Given the description of an element on the screen output the (x, y) to click on. 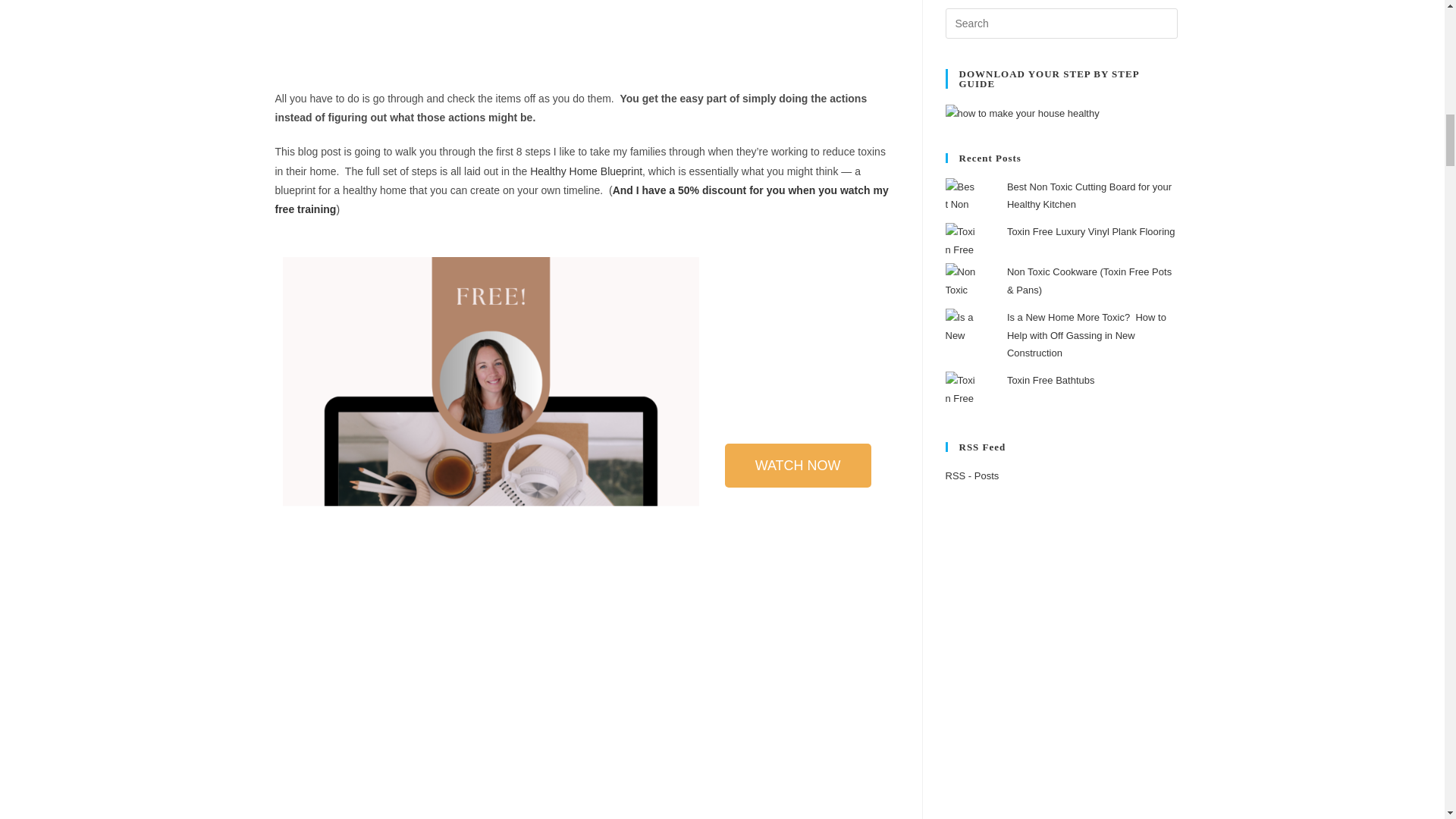
Toxin Free Luxury Vinyl Plank Flooring (1090, 231)
WATCH NOW (797, 465)
Best Non Toxic Cutting Board for your Healthy Kitchen (1089, 194)
Healthy Home Blueprint (585, 171)
